Given the description of an element on the screen output the (x, y) to click on. 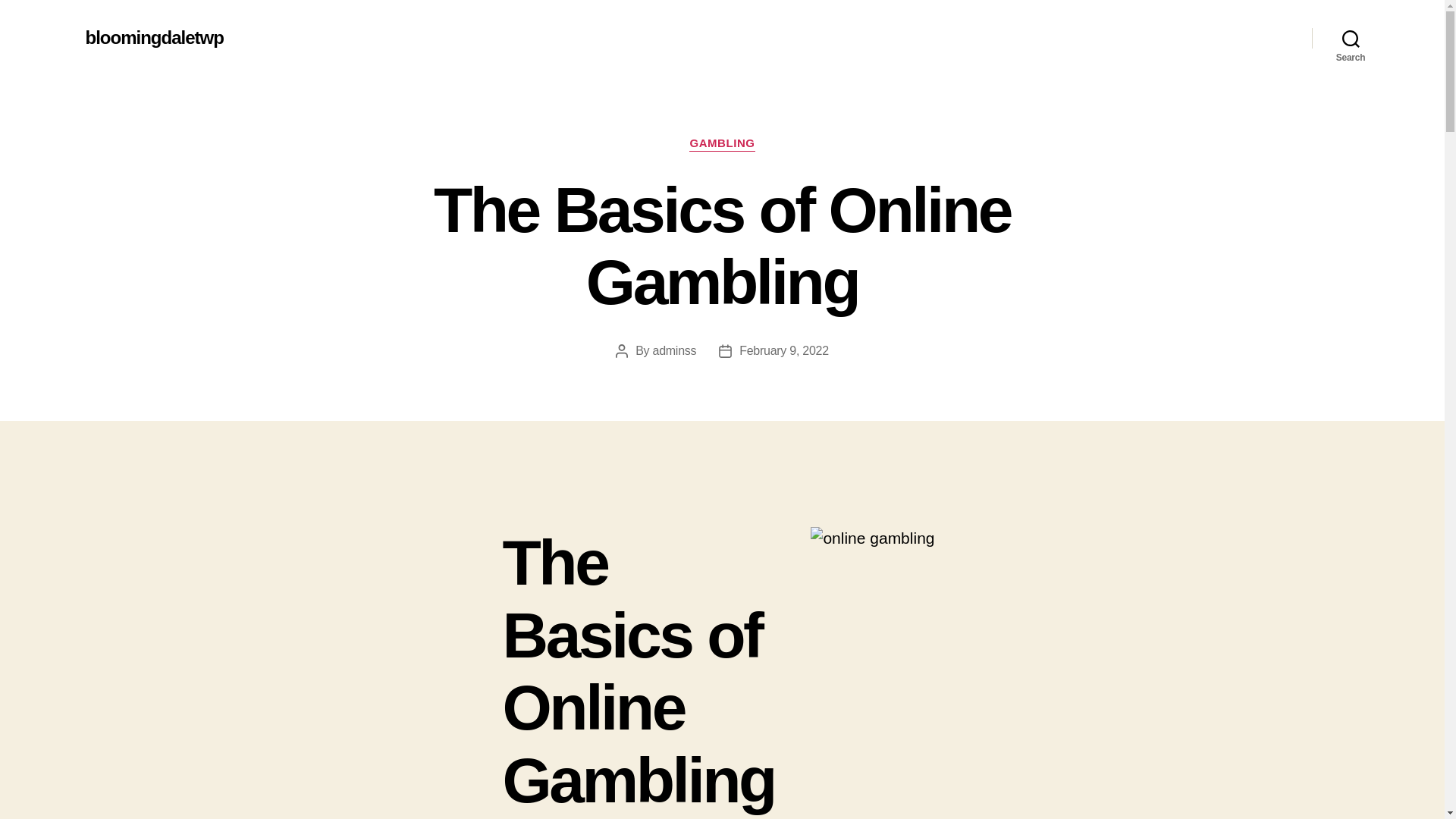
Search (1350, 37)
adminss (674, 350)
February 9, 2022 (783, 350)
GAMBLING (721, 143)
bloomingdaletwp (153, 37)
